Given the description of an element on the screen output the (x, y) to click on. 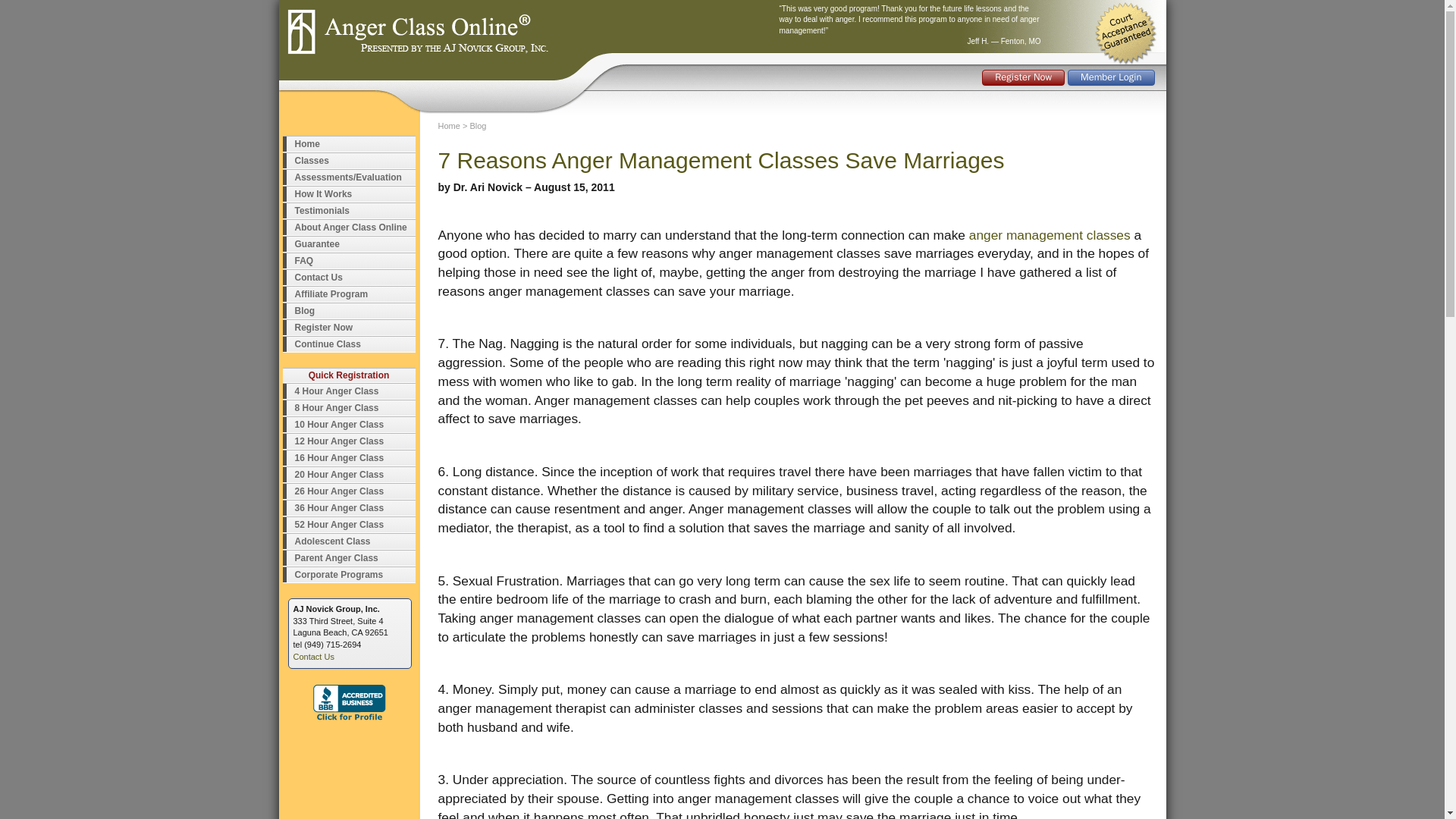
anger management classes (1050, 234)
Register Now (1022, 77)
Classes (348, 160)
Member Login (1110, 77)
Home (348, 143)
